Given the description of an element on the screen output the (x, y) to click on. 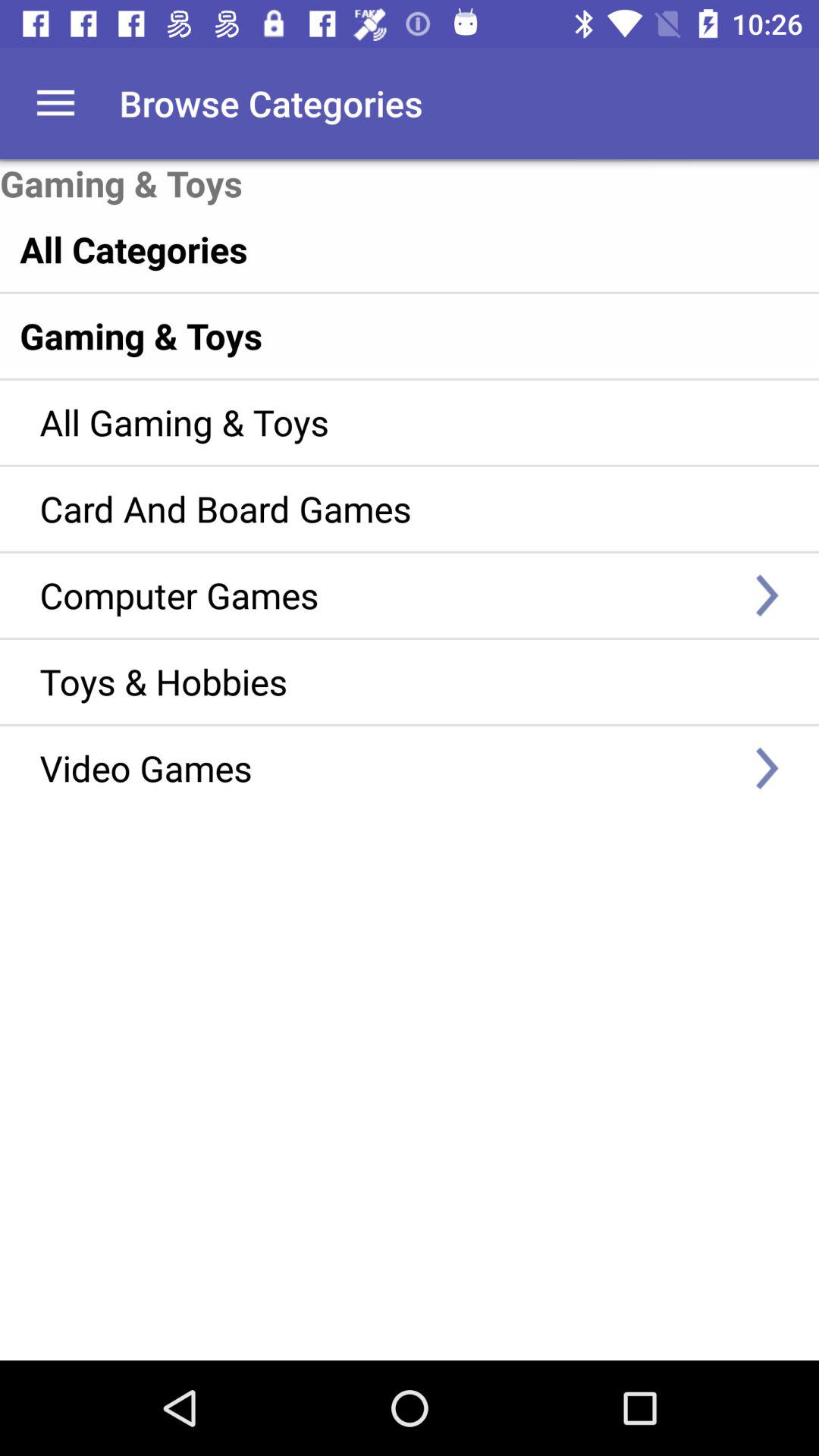
press the icon to the left of browse categories icon (55, 103)
